Given the description of an element on the screen output the (x, y) to click on. 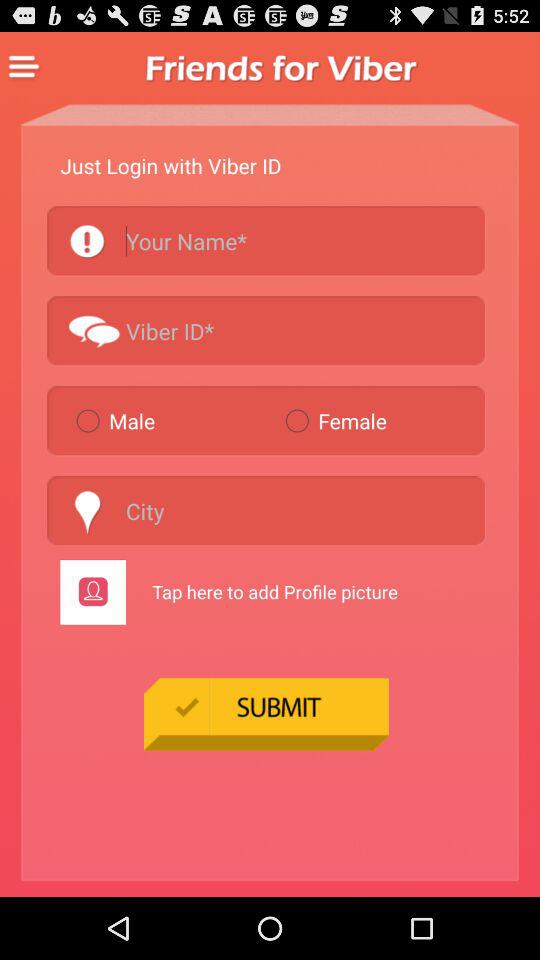
type in viber id (266, 330)
